Given the description of an element on the screen output the (x, y) to click on. 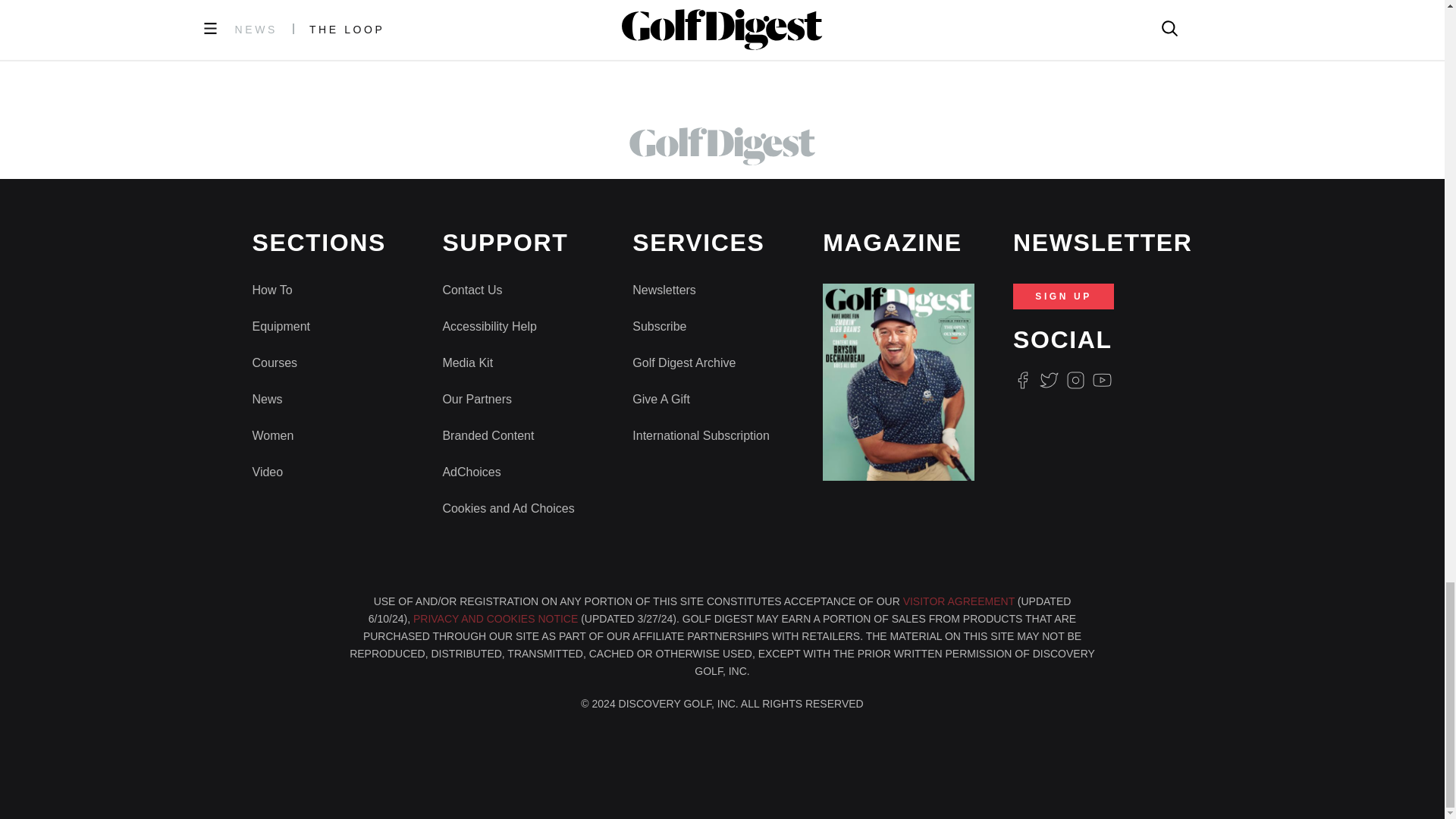
Facebook Logo (1022, 380)
Youtube Icon (1102, 380)
Instagram Logo (1074, 380)
Twitter Logo (1048, 380)
